Given the description of an element on the screen output the (x, y) to click on. 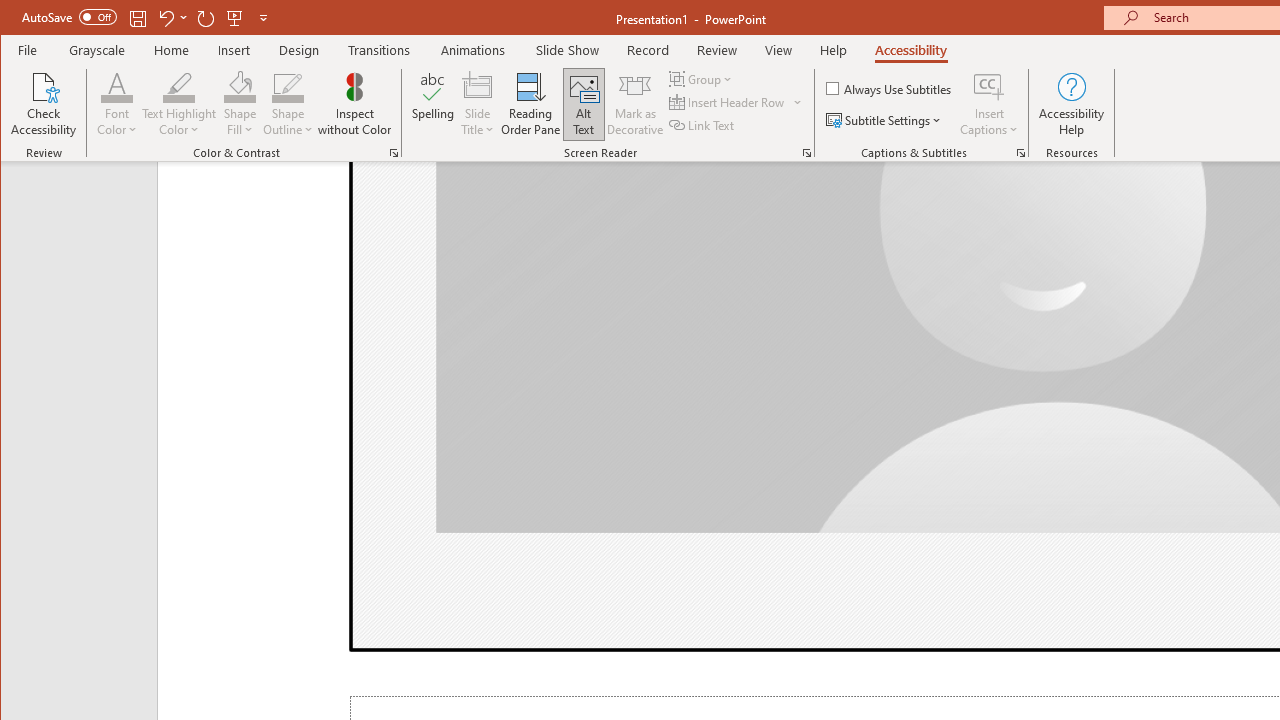
Inspect without Color (355, 104)
Group (701, 78)
